Given the description of an element on the screen output the (x, y) to click on. 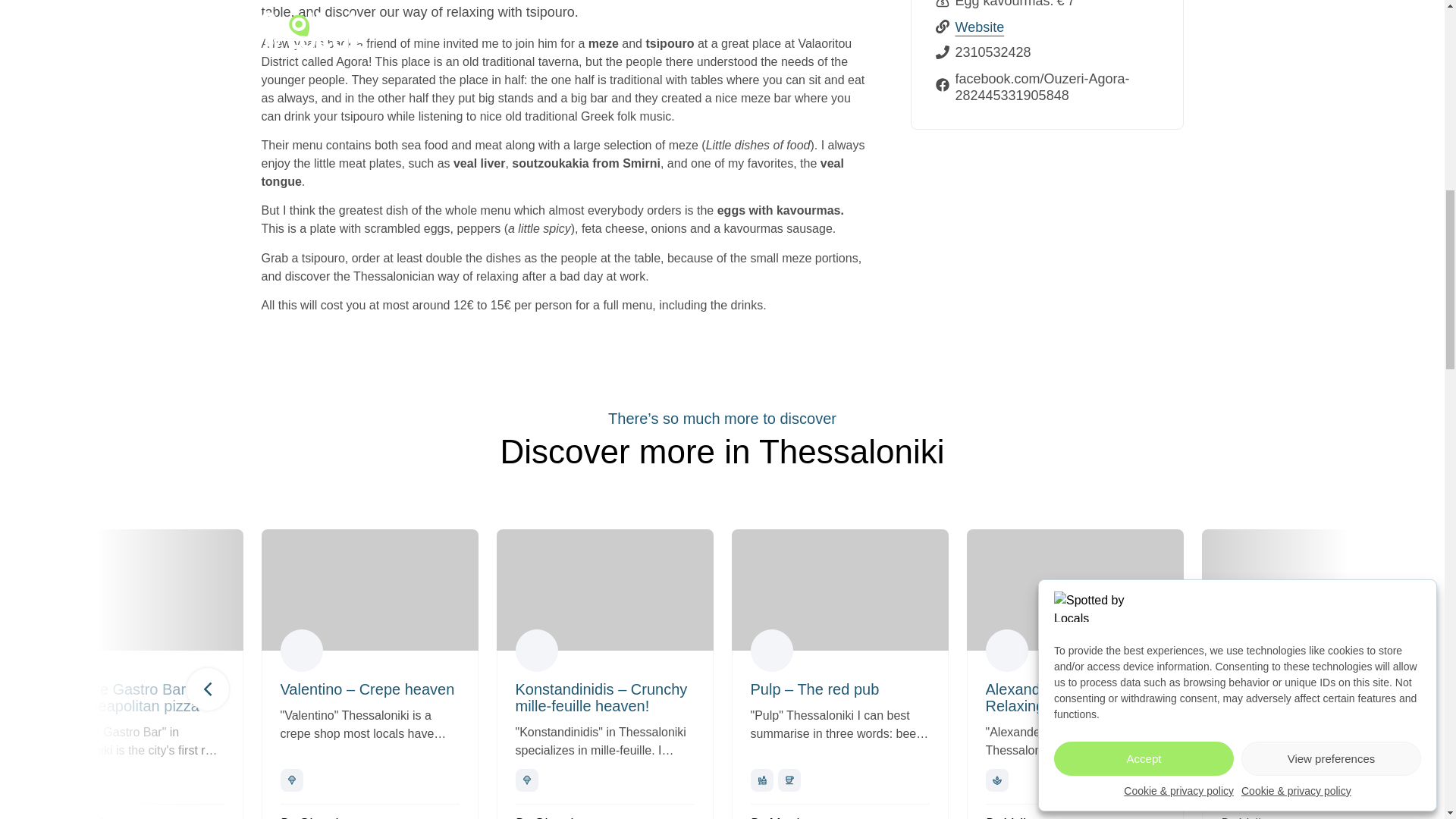
martinapapaioannou-1 (772, 650)
valialavdogianni (1006, 650)
giannissykomanis (536, 650)
giannissykomanis (302, 650)
valialavdogianni (1242, 650)
giannissykomanis (66, 650)
